Given the description of an element on the screen output the (x, y) to click on. 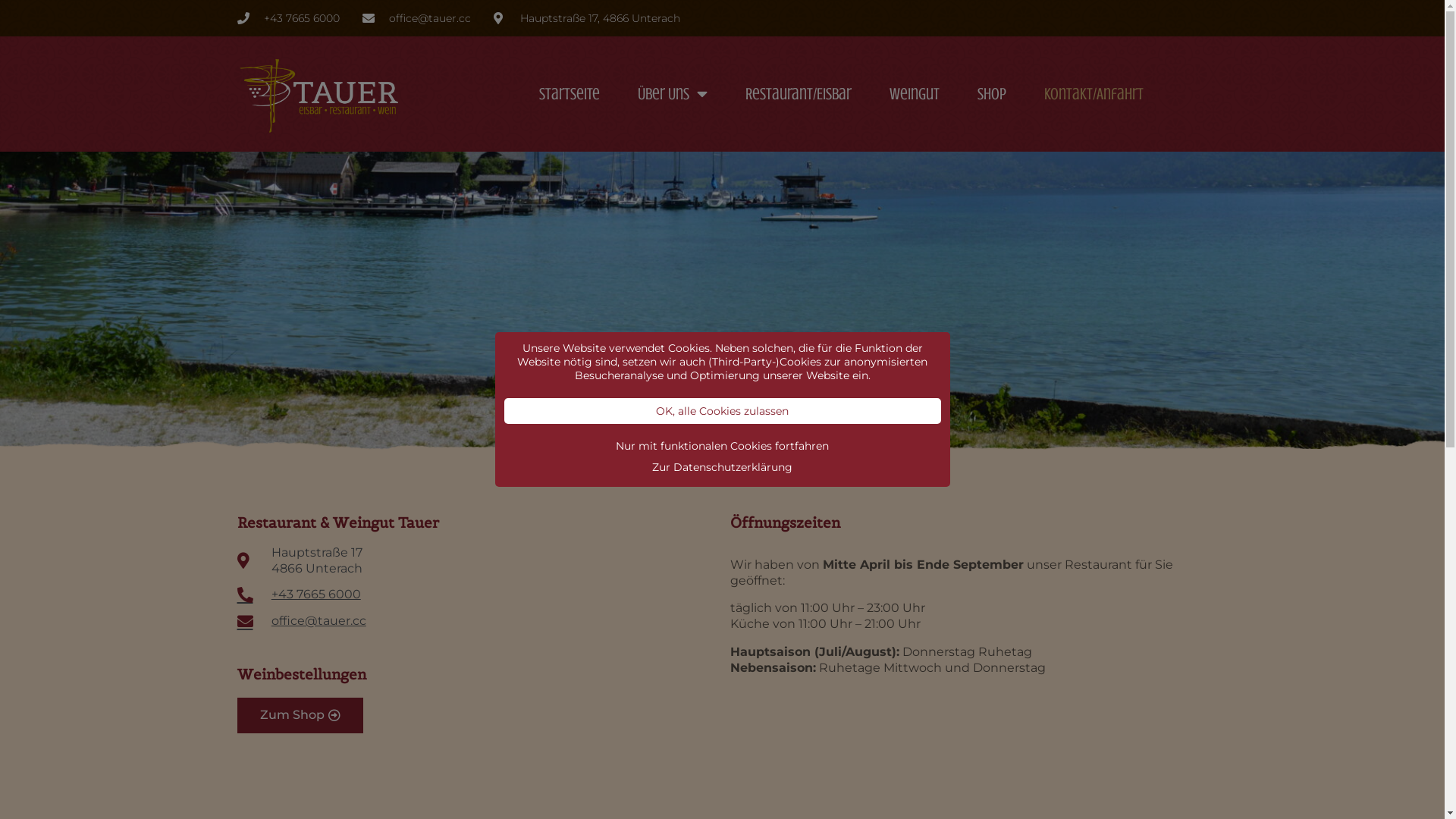
OK, alle Cookies zulassen Element type: text (721, 410)
Kontakt/Anfahrt Element type: text (1093, 93)
Restaurant/Eisbar Element type: text (798, 93)
office@tauer.cc Element type: text (475, 621)
Zum Shop Element type: text (299, 715)
Weingut Element type: text (914, 93)
Shop Element type: text (991, 93)
+43 7665 6000 Element type: text (475, 594)
Startseite Element type: text (569, 93)
Nur mit funktionalen Cookies fortfahren Element type: text (721, 445)
office@tauer.cc Element type: text (416, 18)
+43 7665 6000 Element type: text (287, 18)
